Given the description of an element on the screen output the (x, y) to click on. 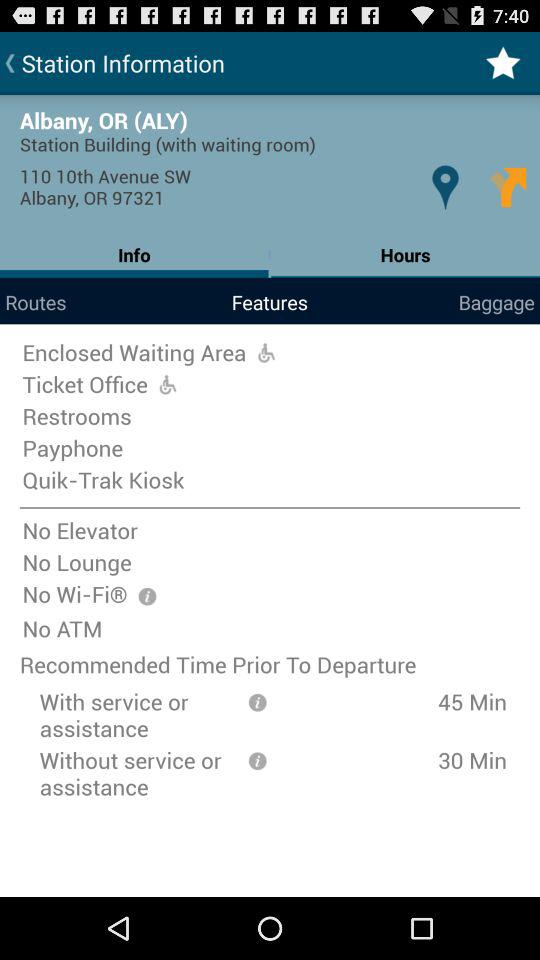
launch the icon next to the 110 10th avenue (444, 186)
